Given the description of an element on the screen output the (x, y) to click on. 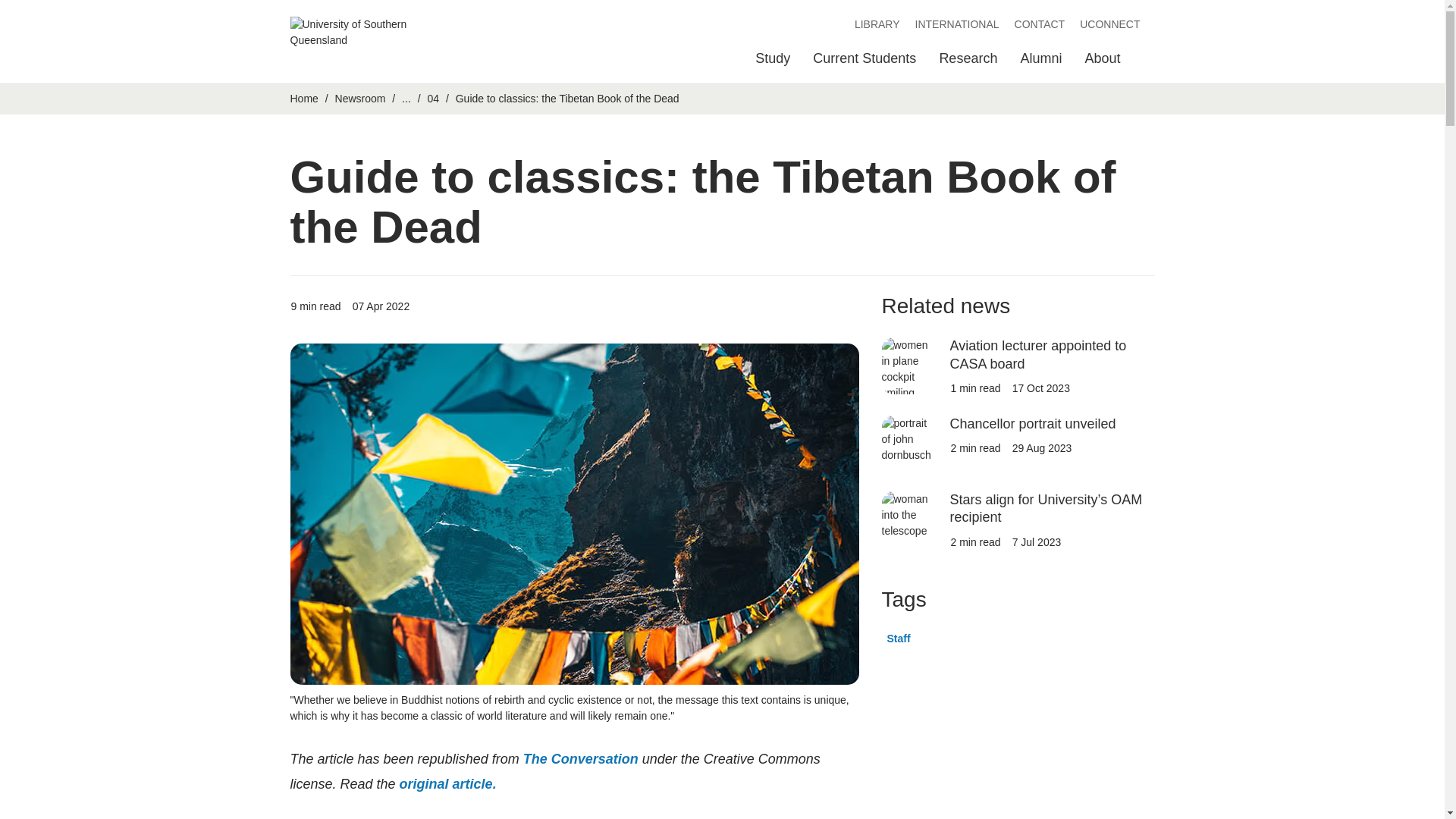
Research (968, 62)
Current Students (864, 62)
Study (773, 62)
